Given the description of an element on the screen output the (x, y) to click on. 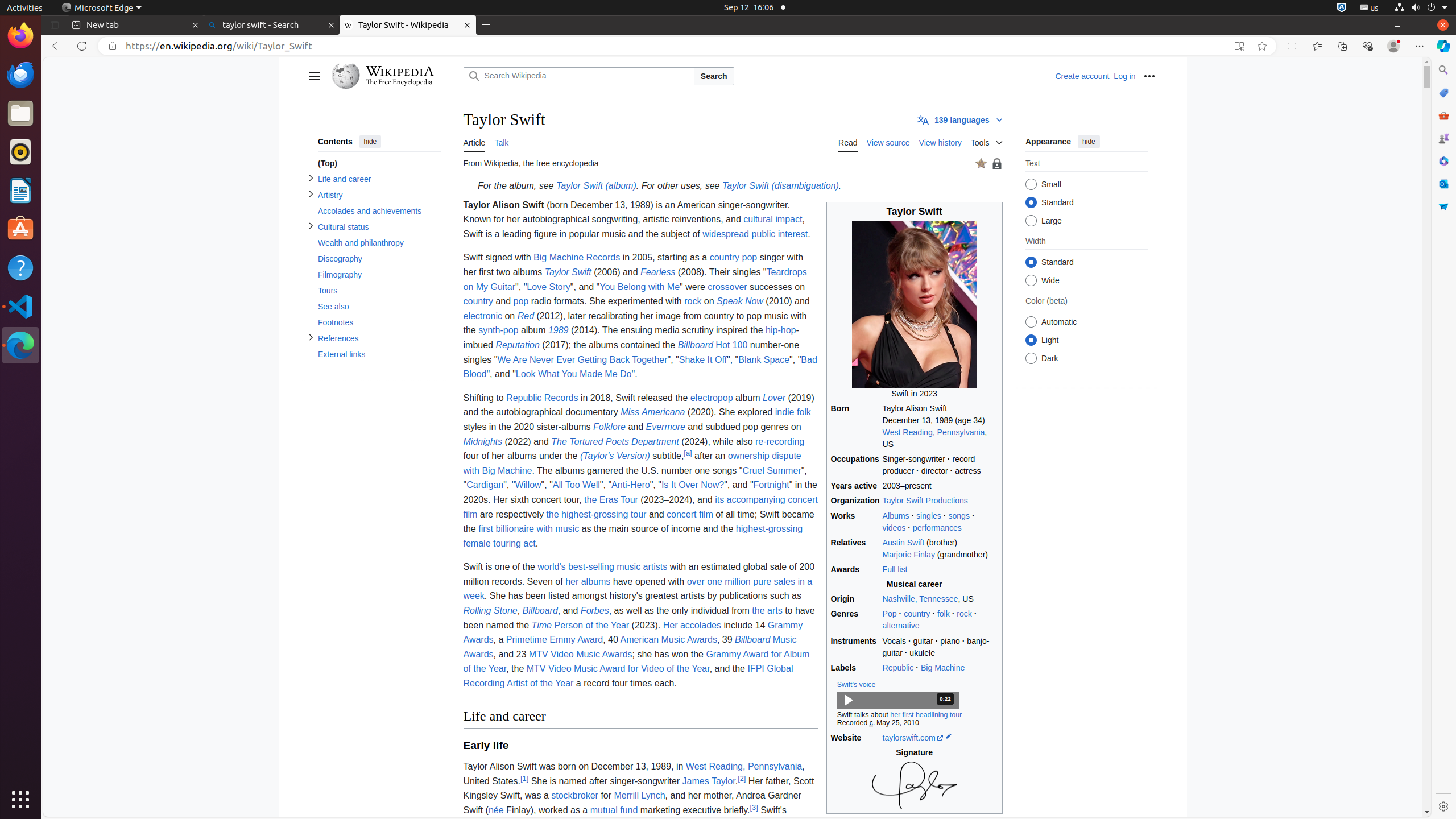
:1.21/StatusNotifierItem Element type: menu (1369, 7)
Vocals · guitar · piano · banjo-guitar · ukulele Element type: table-cell (939, 646)
You Belong with Me Element type: link (639, 286)
Favorites Element type: push-button (1316, 45)
Microsoft Shopping Element type: push-button (1443, 92)
